Given the description of an element on the screen output the (x, y) to click on. 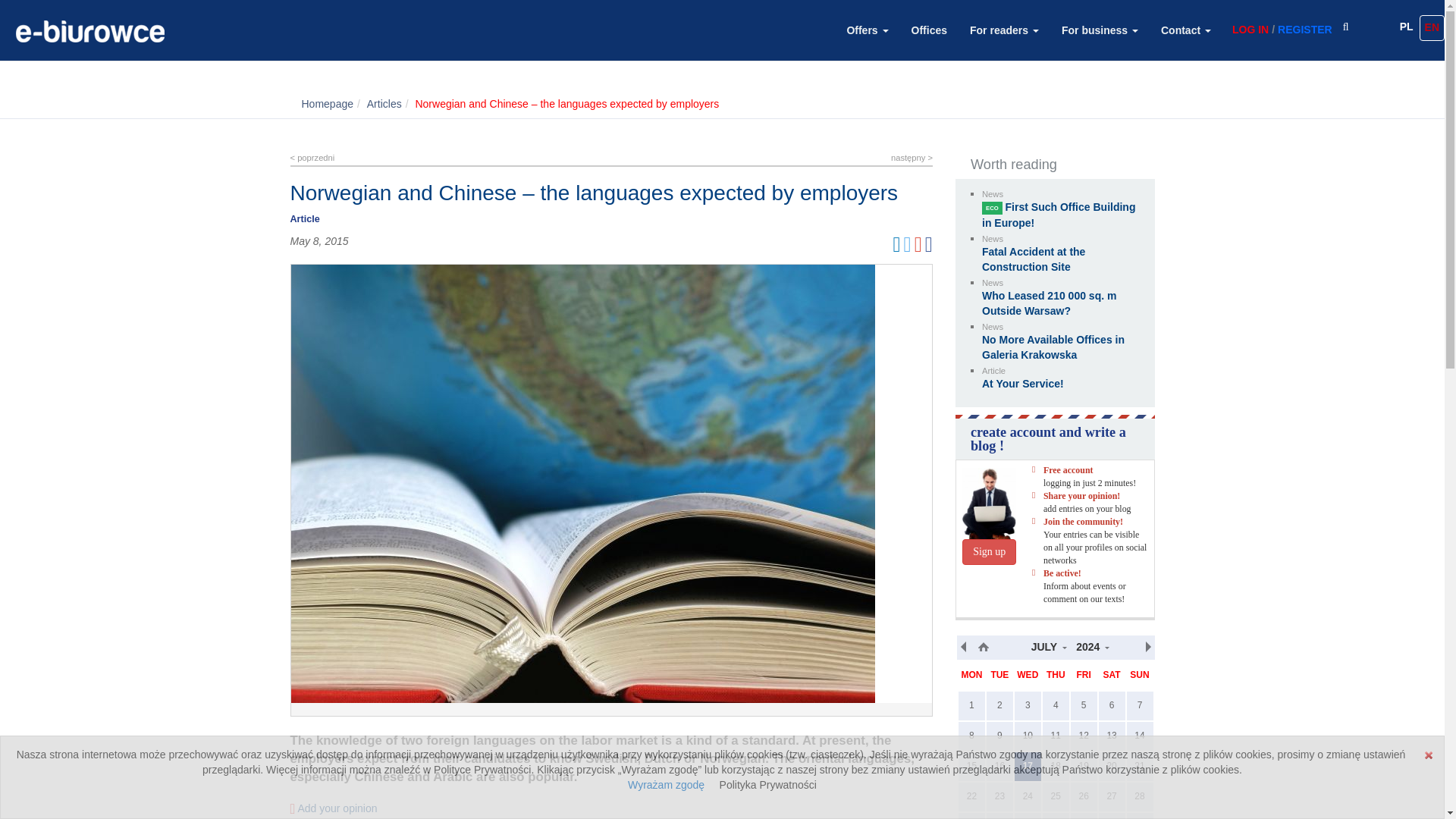
First Such Office Building in Europe! (1058, 214)
Homepage (327, 103)
Desk instead of office (311, 157)
Fatal Accident at the Construction Site (1032, 258)
Offers (866, 35)
Offices (928, 35)
For business (1099, 35)
LOG IN (1247, 30)
REGISTER (1308, 30)
For readers (1003, 35)
Sign in (1247, 30)
It is easier to hire a student from abroad (912, 157)
PL (1406, 27)
Who Leased 210 000 sq. m Outside Warsaw? (1048, 302)
Contact (1186, 35)
